Given the description of an element on the screen output the (x, y) to click on. 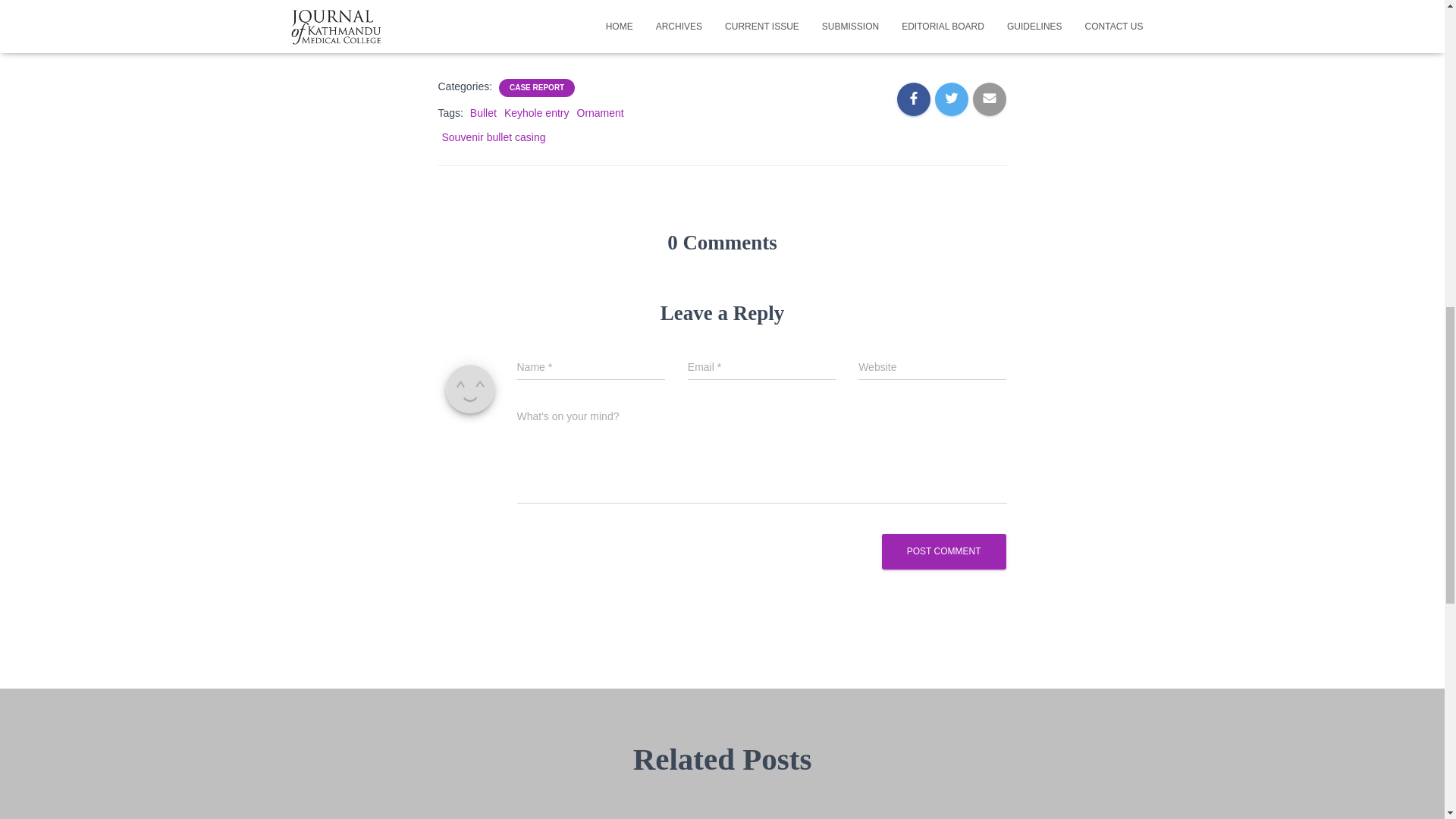
Bullet (483, 111)
Ornament (599, 111)
CASE REPORT (537, 86)
Souvenir bullet casing (492, 137)
Keyhole entry (536, 111)
Post Comment (944, 551)
Post Comment (944, 551)
